Given the description of an element on the screen output the (x, y) to click on. 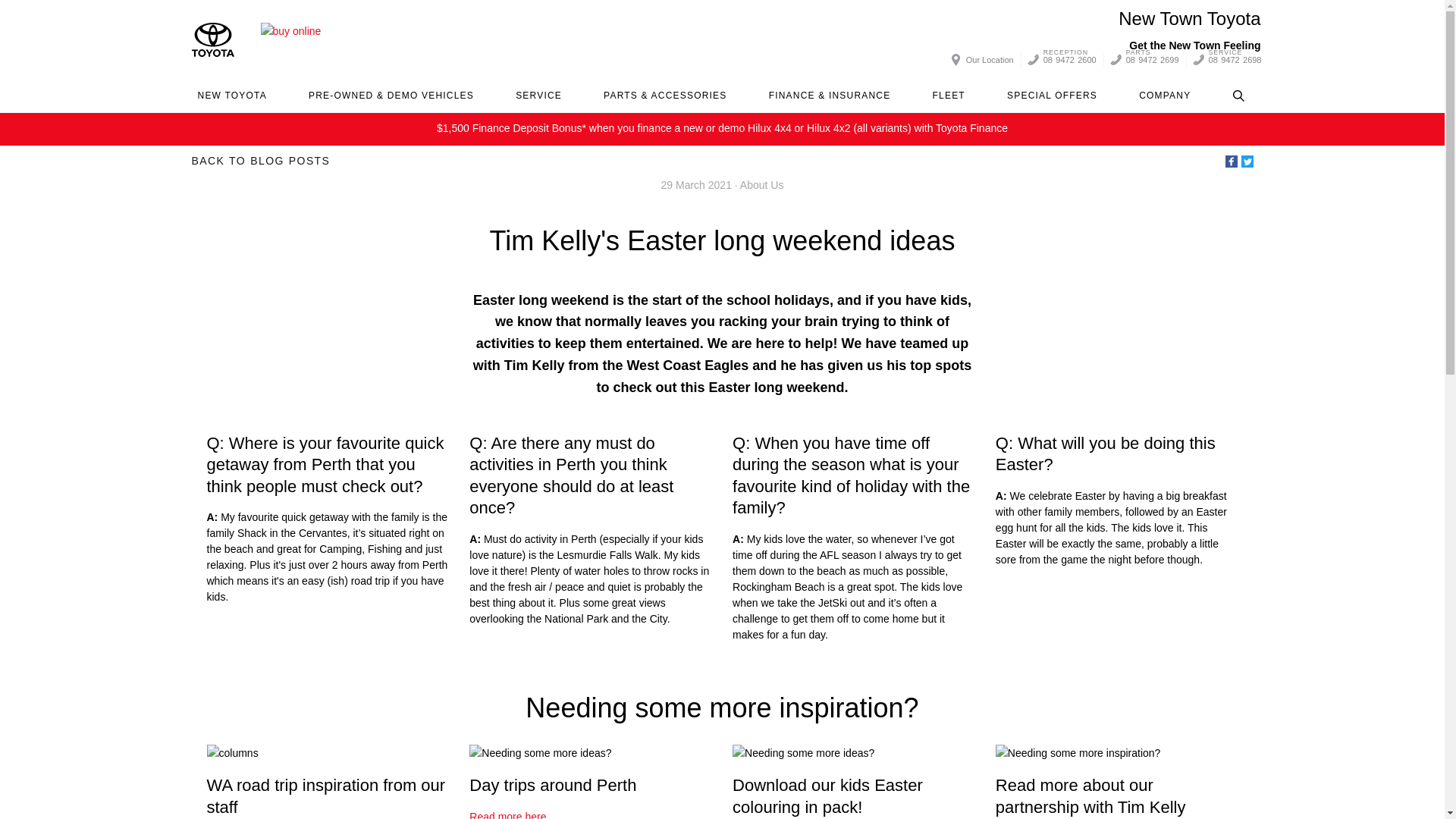
New Town Toyota (1189, 27)
NEW TOYOTA (1189, 27)
New Town Toyota (231, 95)
Buy Online (211, 39)
Facebook (290, 39)
Twitter (1231, 161)
